Given the description of an element on the screen output the (x, y) to click on. 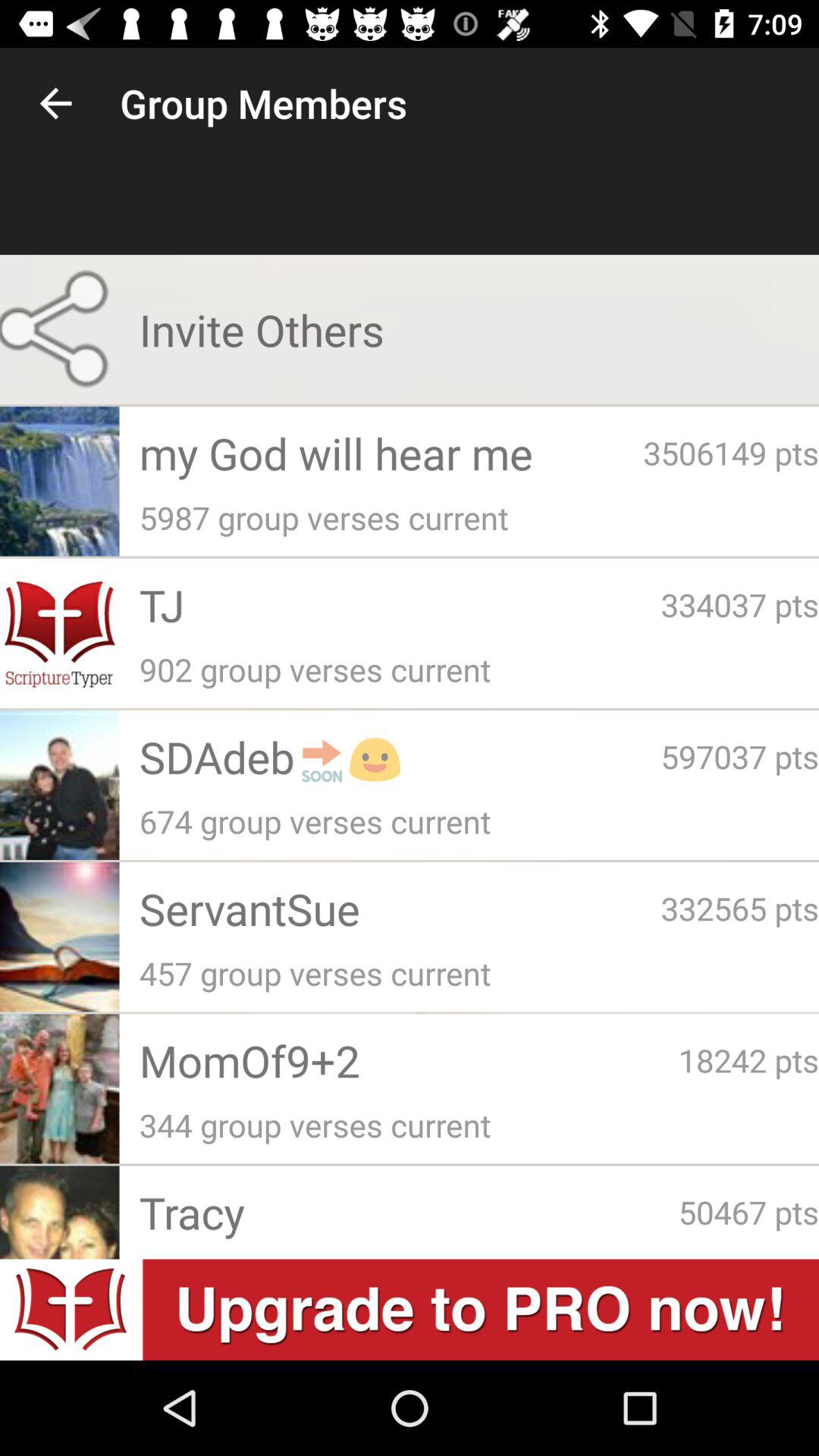
open item below 457 group verses app (748, 1059)
